Given the description of an element on the screen output the (x, y) to click on. 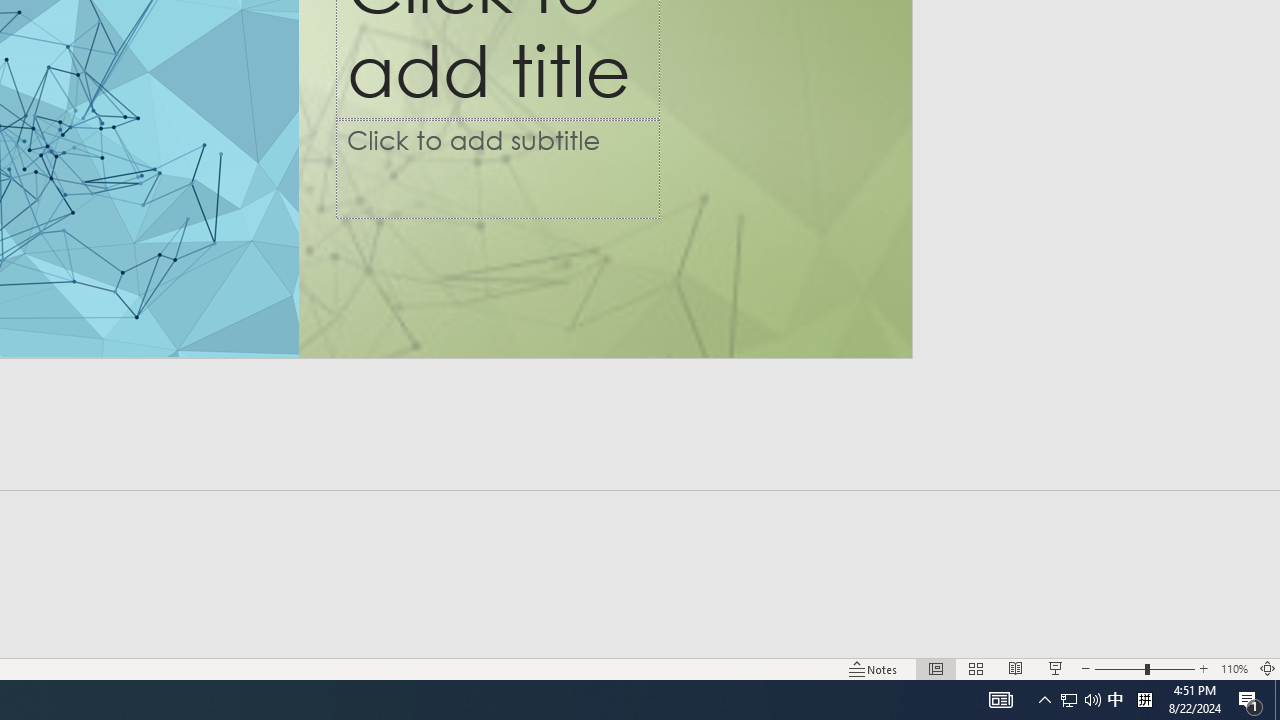
Zoom 110% (1234, 668)
